Given the description of an element on the screen output the (x, y) to click on. 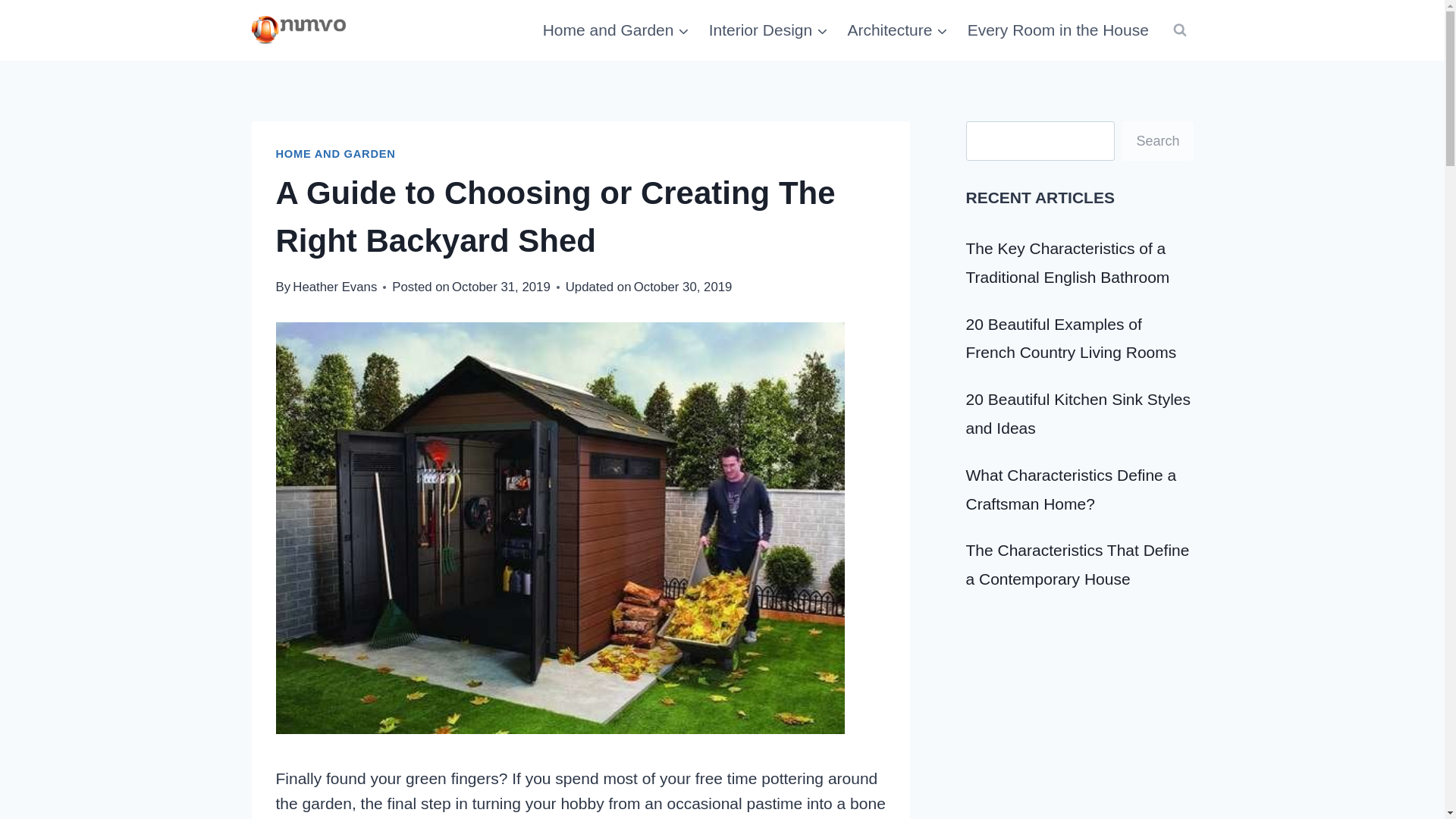
Home and Garden (615, 30)
HOME AND GARDEN (336, 153)
Every Room in the House (1057, 30)
Heather Evans (334, 287)
Architecture (898, 30)
Interior Design (768, 30)
